Given the description of an element on the screen output the (x, y) to click on. 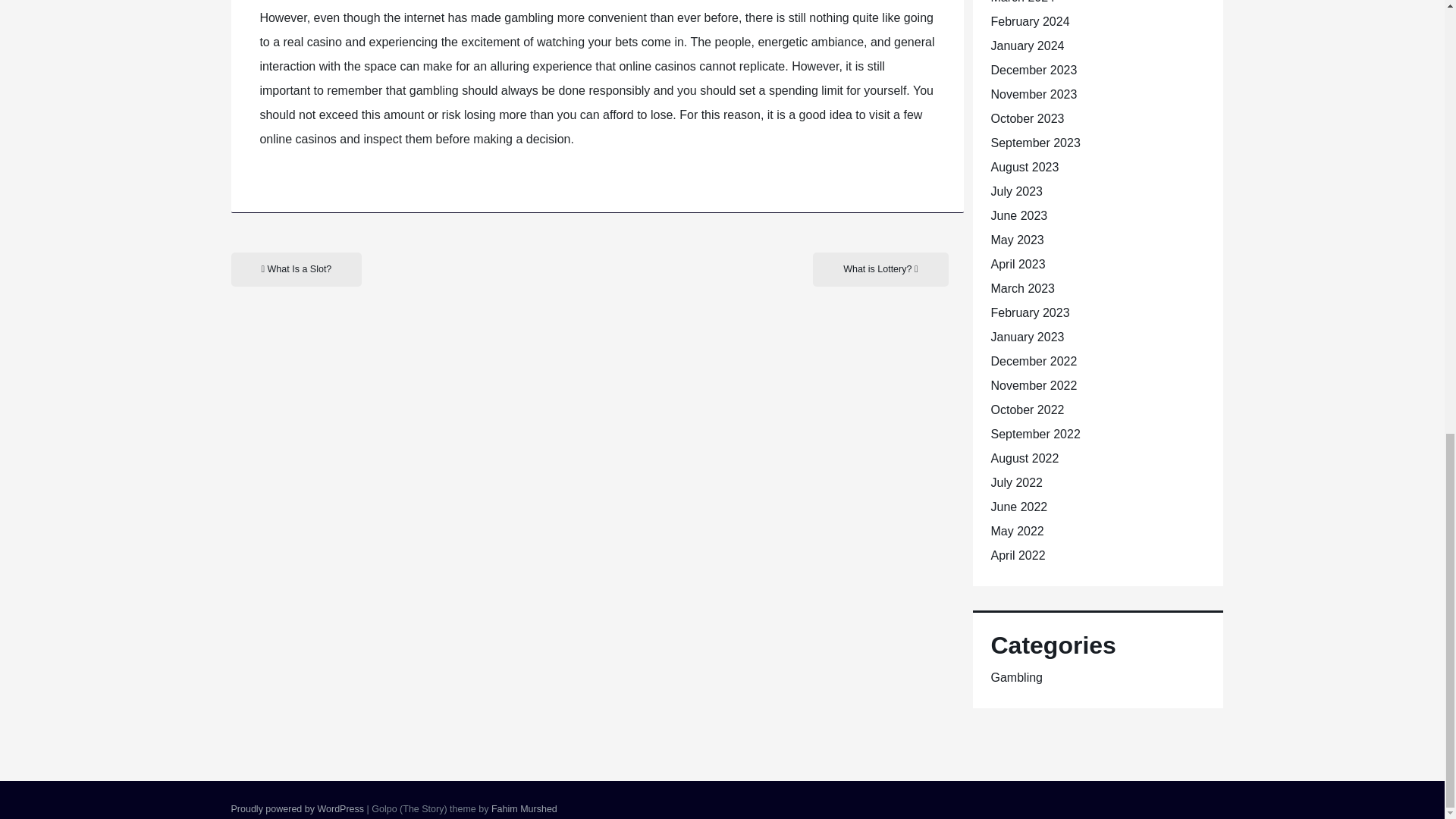
July 2022 (1016, 481)
April 2023 (1017, 264)
December 2023 (1033, 69)
September 2022 (1035, 433)
May 2022 (1016, 530)
What is Lottery? (879, 269)
August 2022 (1024, 458)
January 2024 (1027, 45)
February 2024 (1029, 21)
What Is a Slot? (295, 269)
March 2024 (1022, 2)
December 2022 (1033, 360)
June 2022 (1018, 506)
March 2023 (1022, 287)
October 2023 (1027, 118)
